Given the description of an element on the screen output the (x, y) to click on. 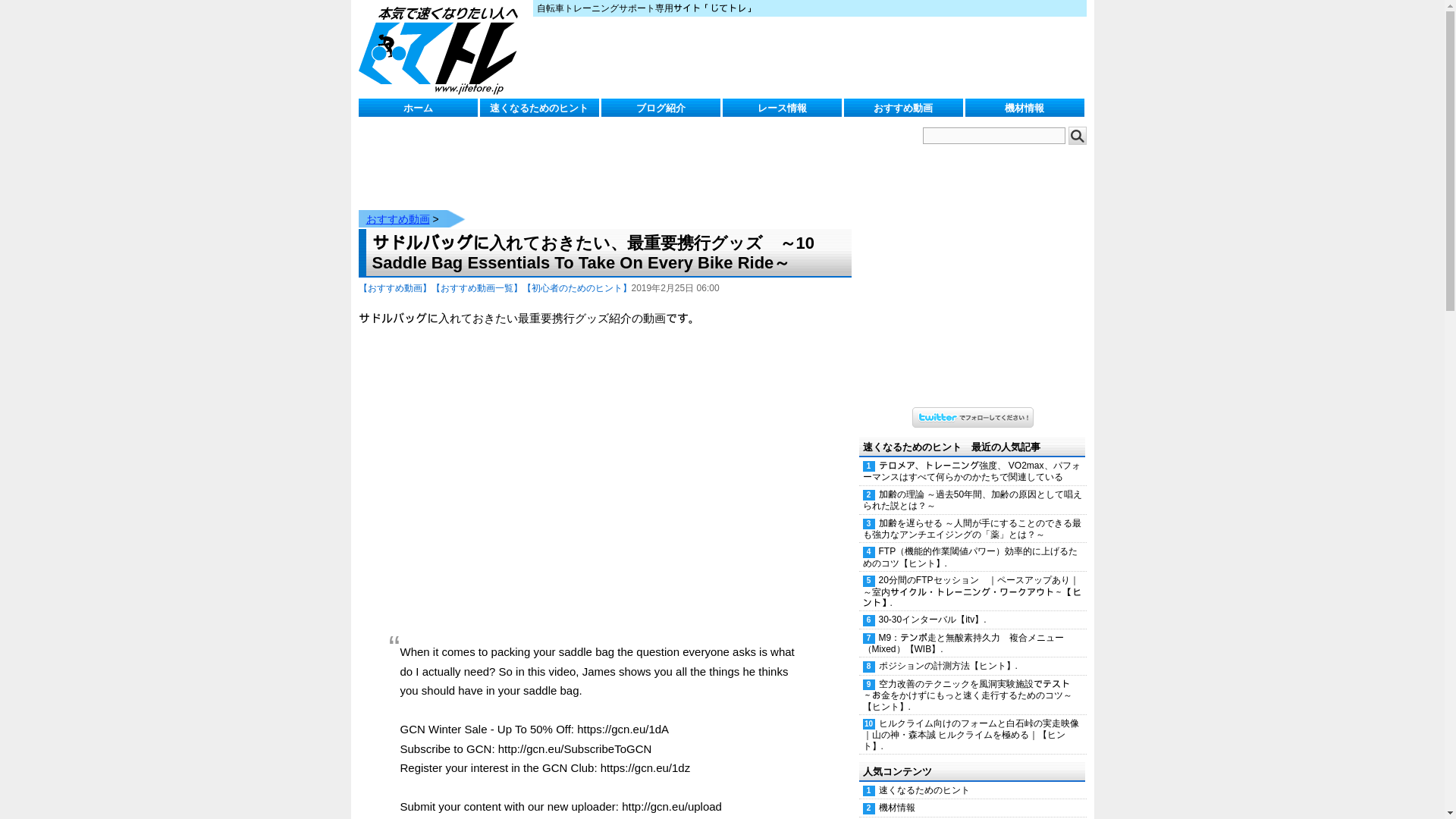
3rd party ad content (808, 58)
3rd party ad content (634, 160)
